Given the description of an element on the screen output the (x, y) to click on. 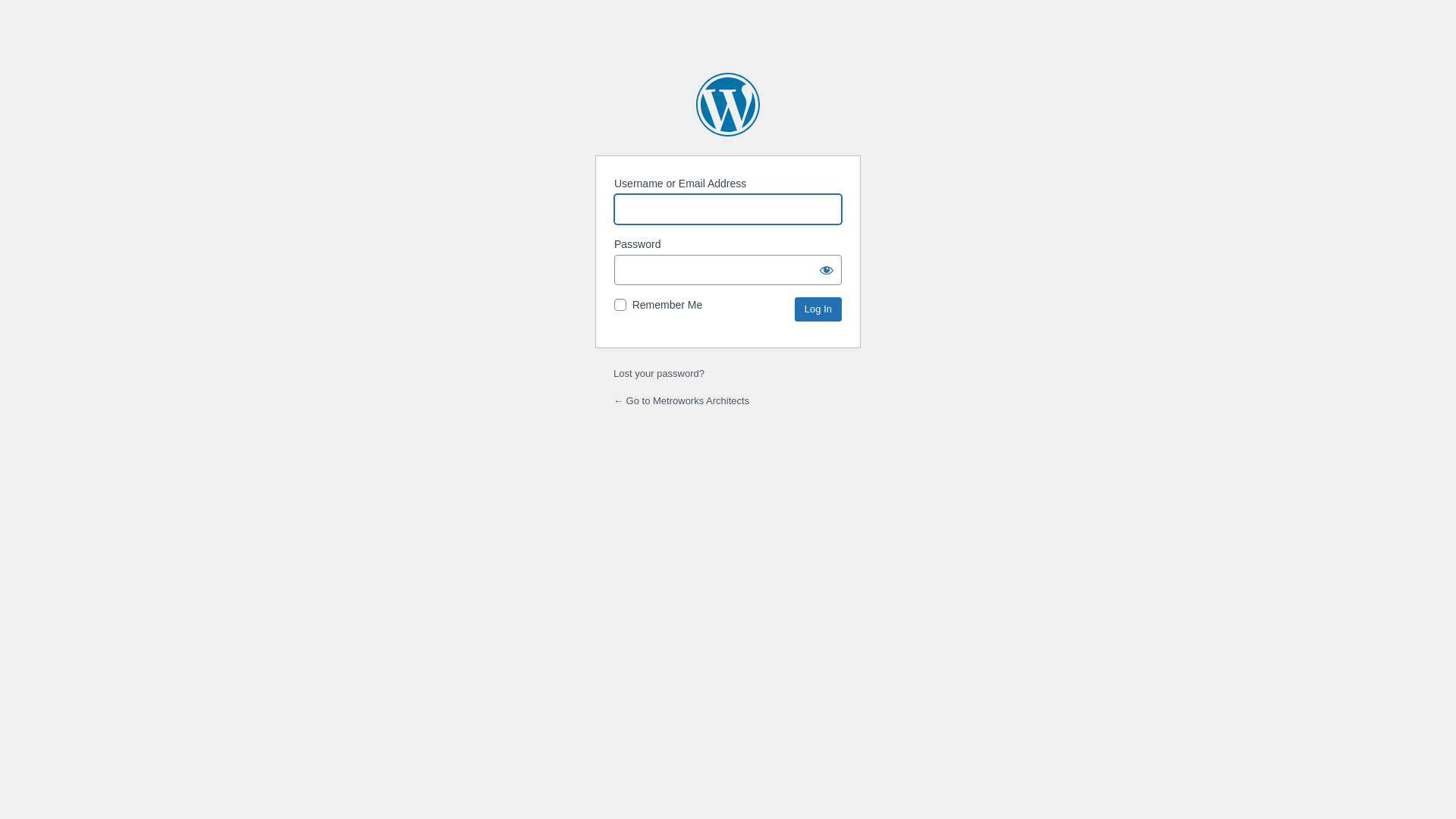
Powered by WordPress Element type: text (727, 104)
Lost your password? Element type: text (658, 373)
Log In Element type: text (817, 309)
